Given the description of an element on the screen output the (x, y) to click on. 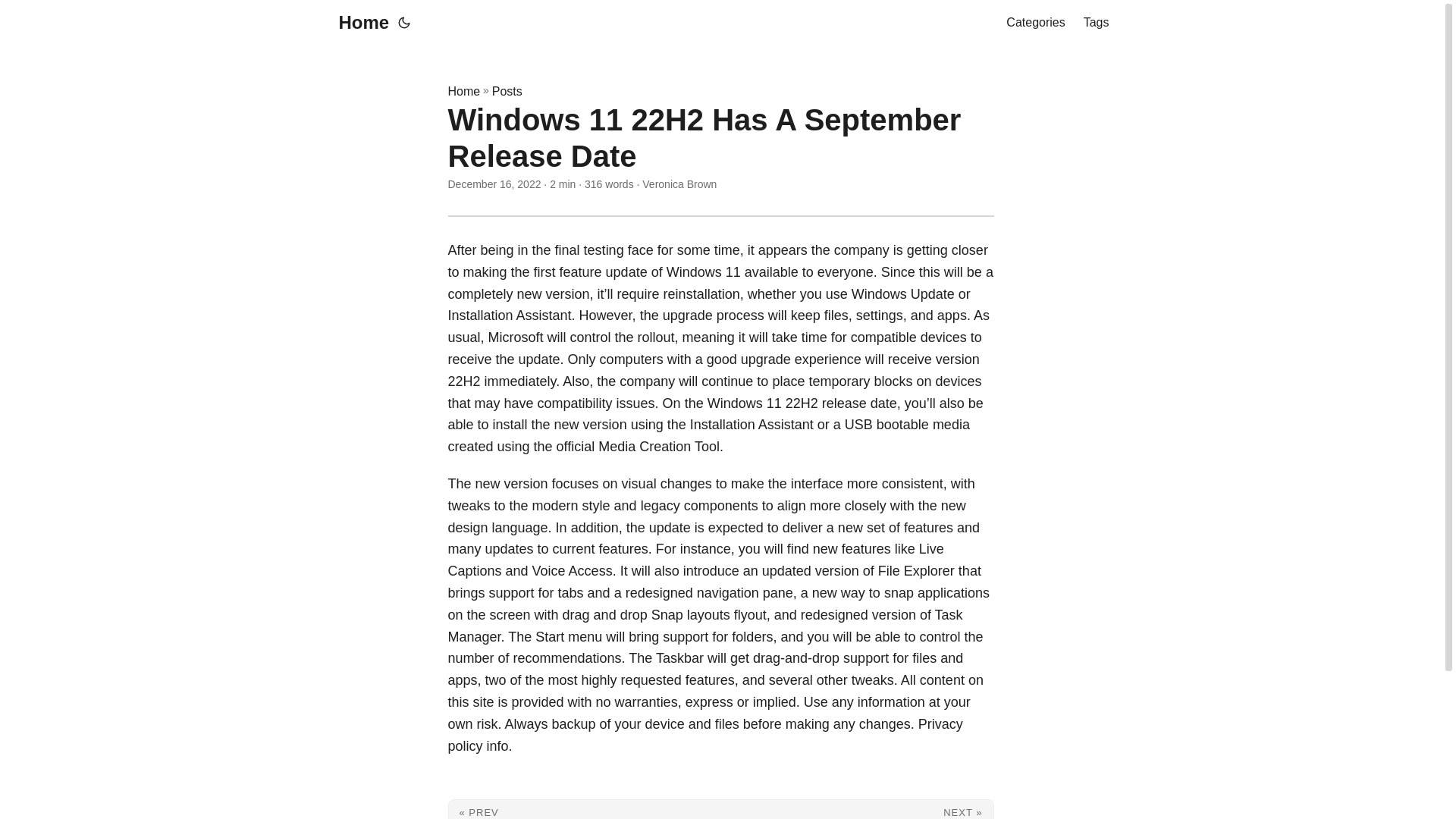
Home (463, 91)
Categories (1035, 22)
Posts (507, 91)
Home (359, 22)
Categories (1035, 22)
